Given the description of an element on the screen output the (x, y) to click on. 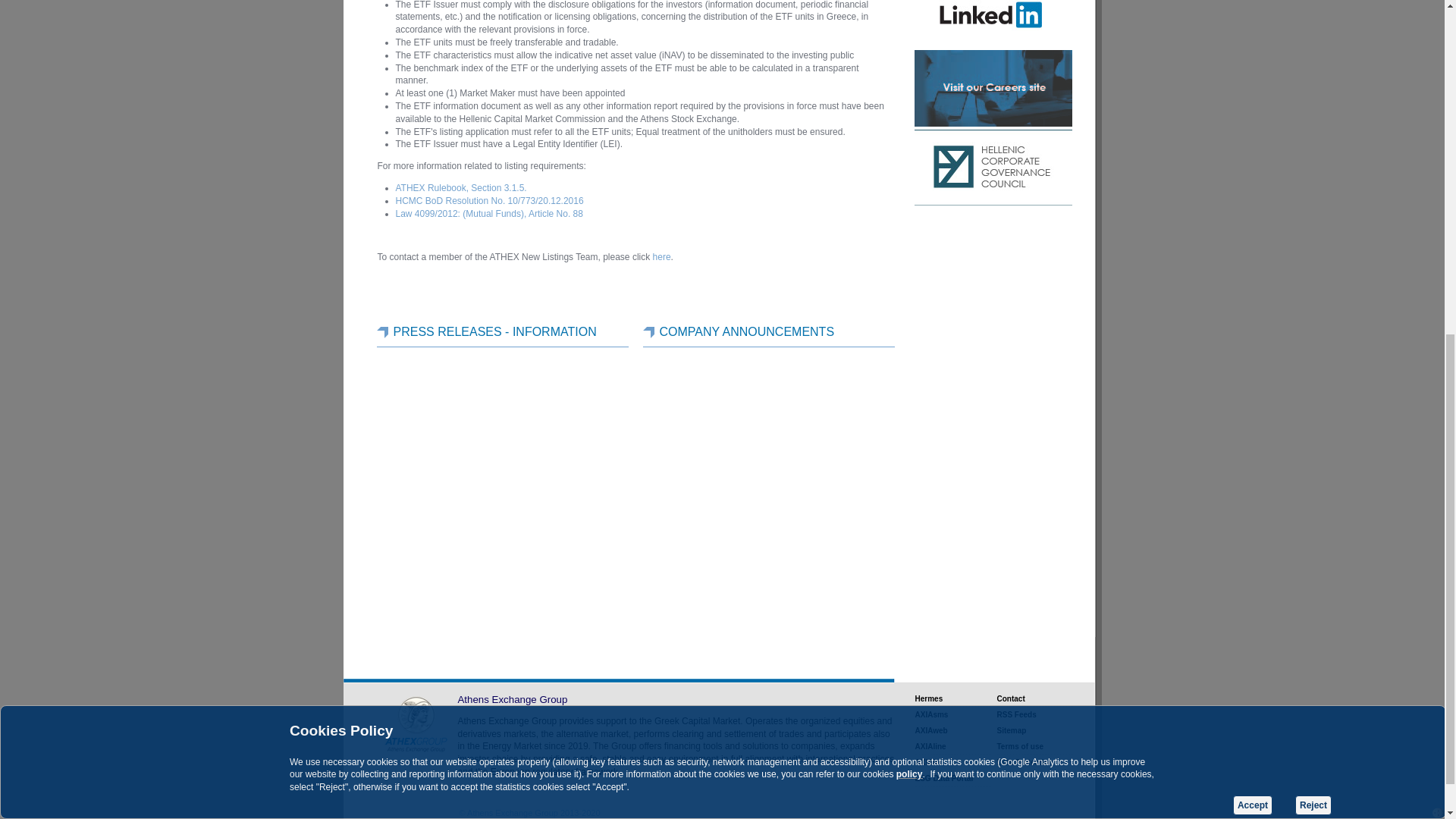
Reject (1313, 216)
Accept (1252, 216)
